Given the description of an element on the screen output the (x, y) to click on. 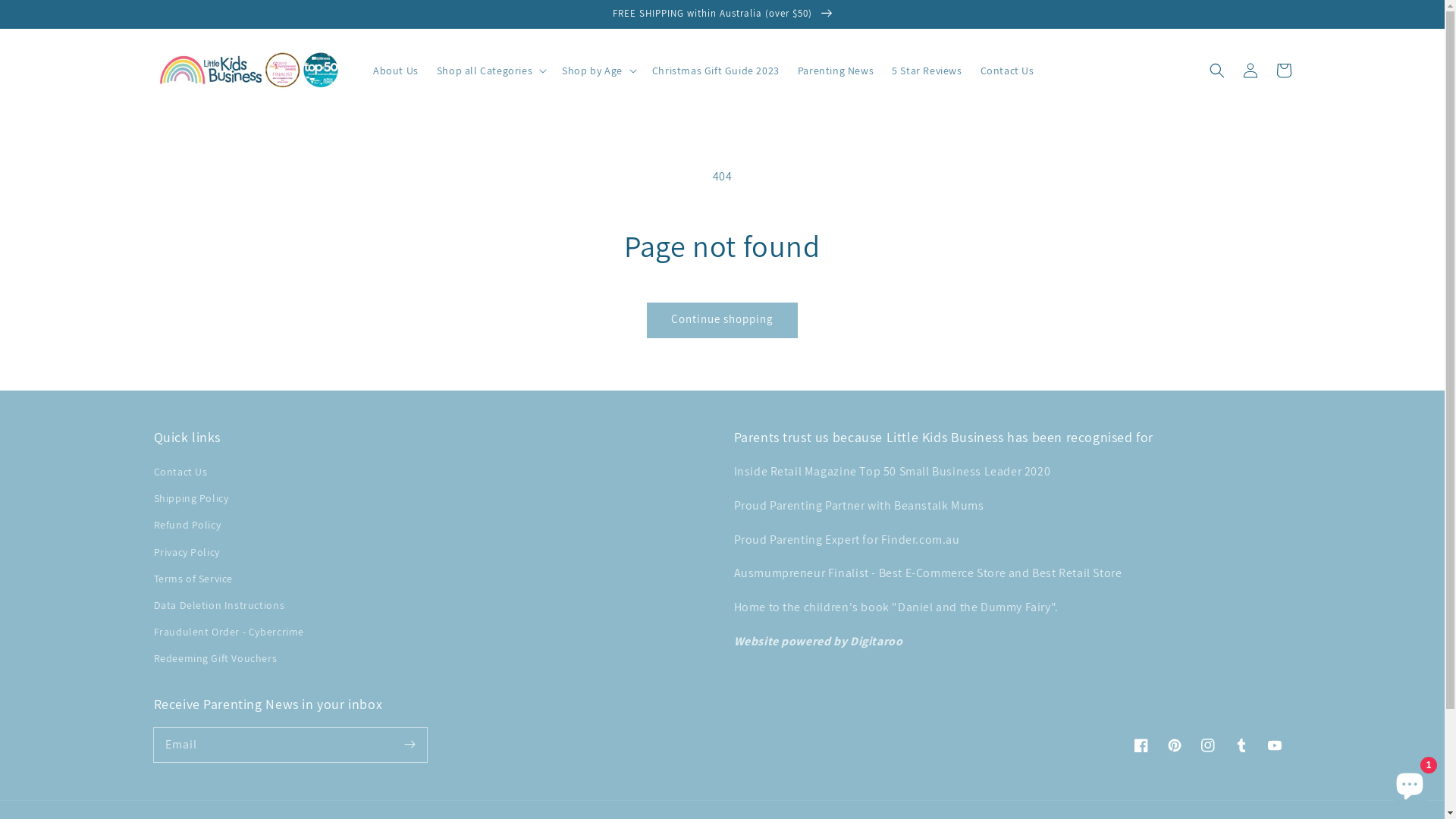
Log in Element type: text (1249, 70)
Instagram Element type: text (1206, 745)
YouTube Element type: text (1273, 745)
Cart Element type: text (1282, 70)
About Us Element type: text (395, 70)
Continue shopping Element type: text (722, 320)
Redeeming Gift Vouchers Element type: text (214, 658)
FREE SHIPPING within Australia (over $50) Element type: text (722, 14)
Terms of Service Element type: text (192, 578)
Shopify online store chat Element type: hover (1409, 780)
Shipping Policy Element type: text (190, 498)
Facebook Element type: text (1140, 745)
Refund Policy Element type: text (186, 524)
Pinterest Element type: text (1173, 745)
Contact Us Element type: text (1007, 70)
Tumblr Element type: text (1240, 745)
Parenting News Element type: text (835, 70)
Data Deletion Instructions Element type: text (218, 605)
Privacy Policy Element type: text (186, 552)
Christmas Gift Guide 2023 Element type: text (715, 70)
5 Star Reviews Element type: text (926, 70)
Fraudulent Order - Cybercrime Element type: text (228, 631)
Contact Us Element type: text (180, 473)
